Given the description of an element on the screen output the (x, y) to click on. 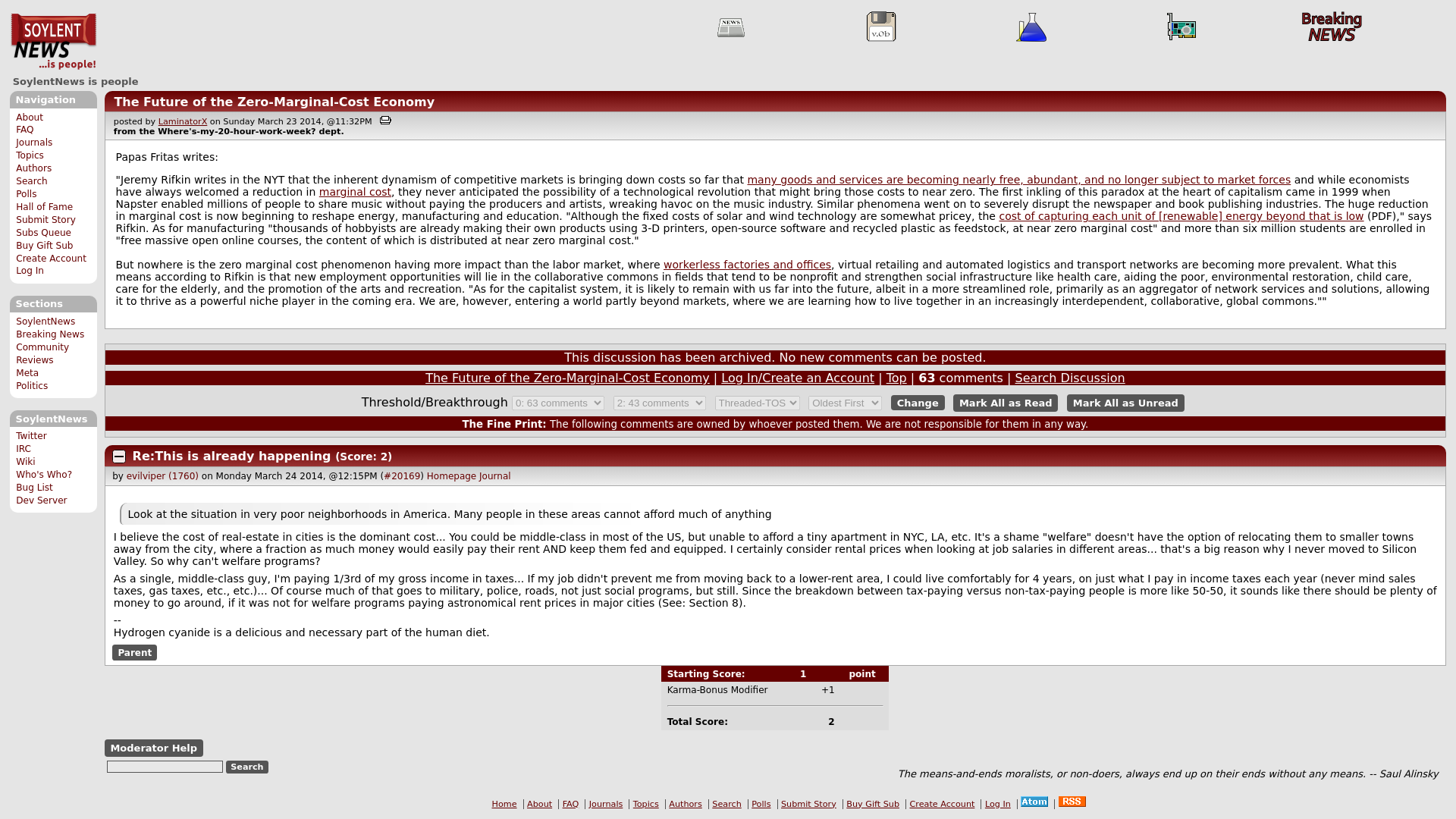
Politics (32, 385)
SoylentNews (45, 321)
Breaking News (1331, 26)
Bug List (34, 487)
Hardware (1181, 26)
Wiki (25, 461)
Meta (27, 372)
Search (247, 766)
News (730, 26)
IRC (23, 448)
Topics (29, 154)
Breaking News (50, 334)
Buy Gift Sub (44, 245)
workerless factories and offices (747, 264)
marginal cost (354, 191)
